Given the description of an element on the screen output the (x, y) to click on. 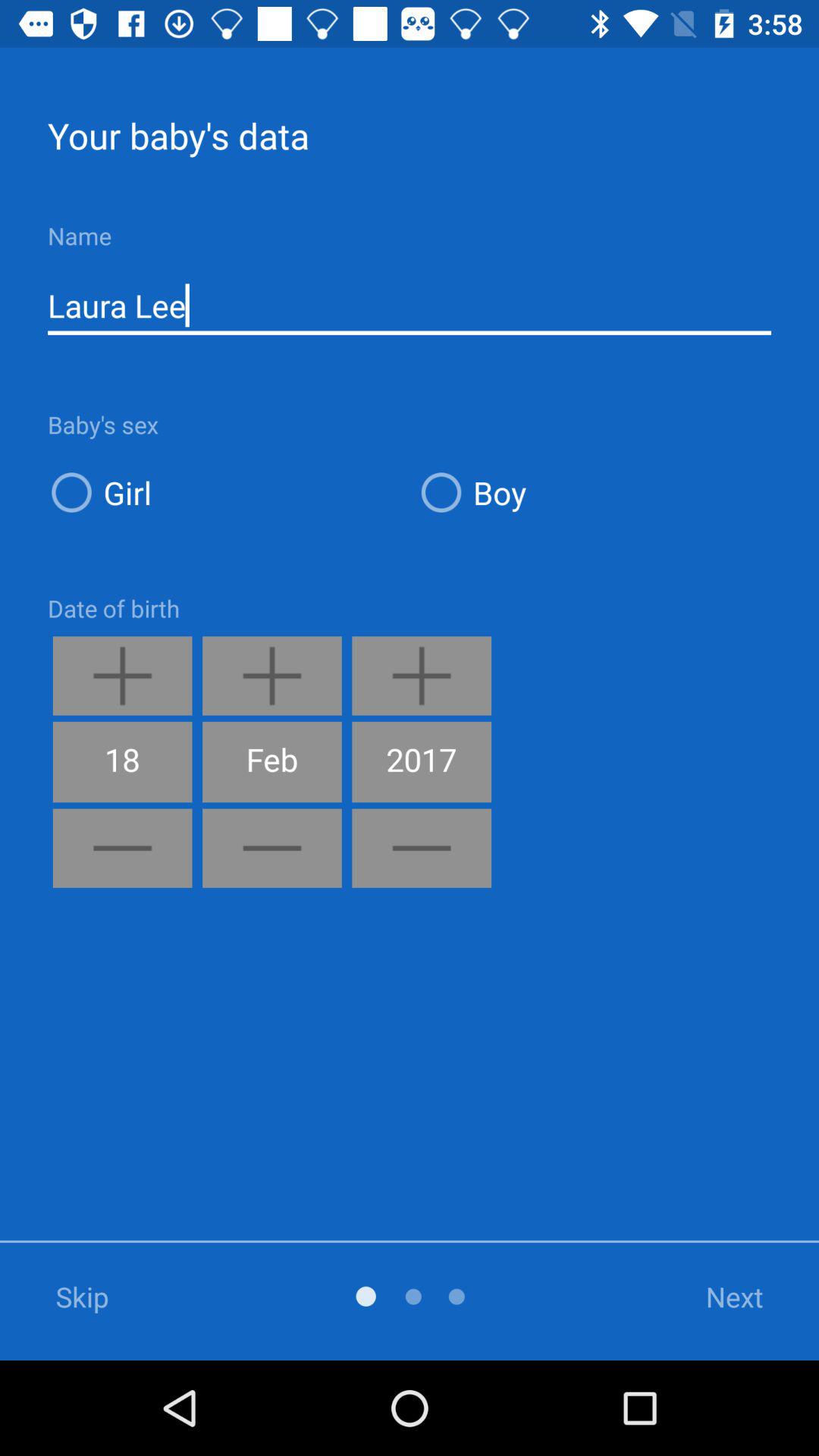
tap the icon below the boy (715, 1296)
